Given the description of an element on the screen output the (x, y) to click on. 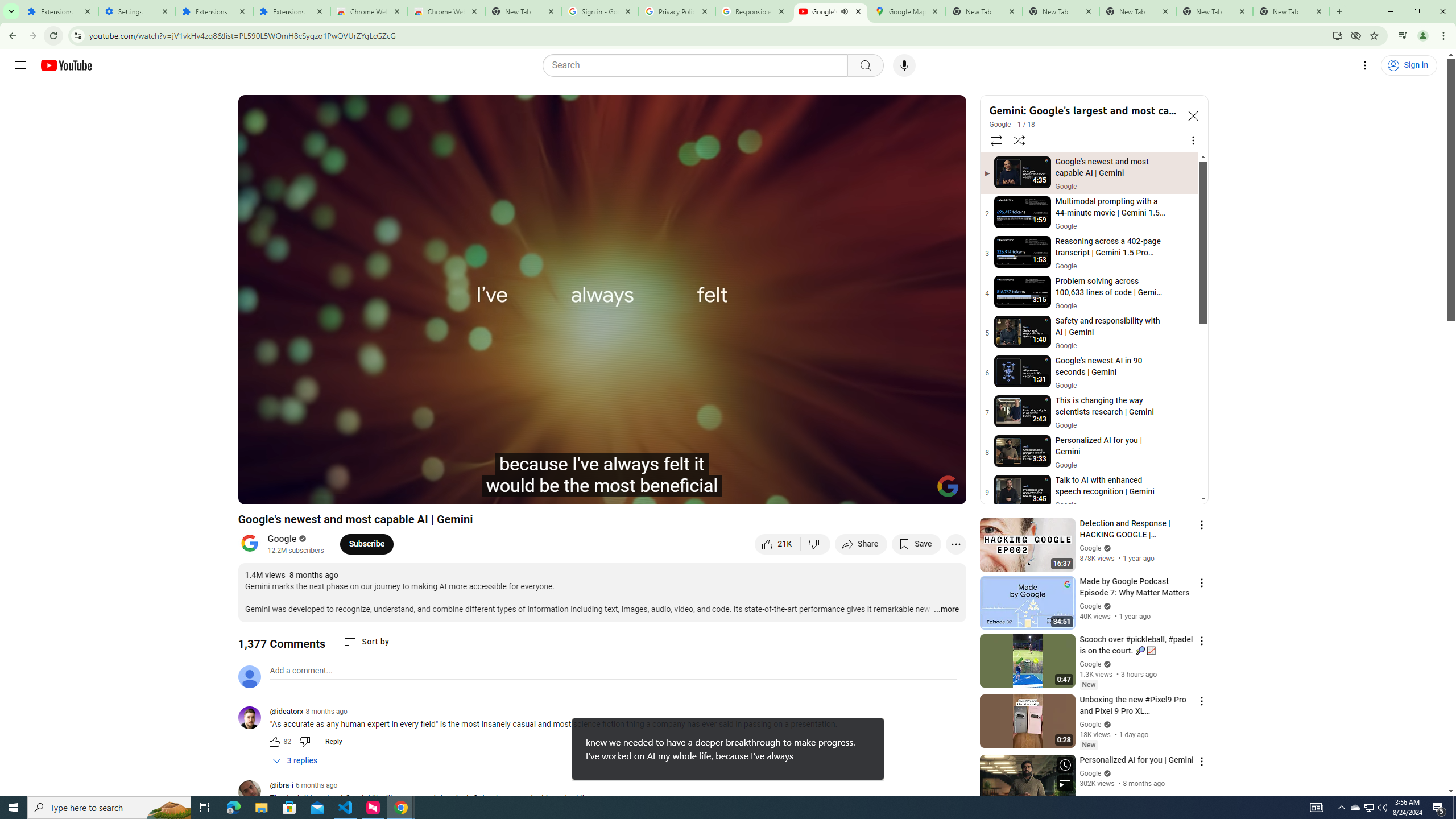
New Tab (1291, 11)
Default profile photo (248, 676)
Extensions (290, 11)
New Tab (523, 11)
YouTube Home (66, 65)
Collapse (1192, 115)
New (1087, 744)
Dislike this comment (304, 741)
6 months ago (316, 785)
